Given the description of an element on the screen output the (x, y) to click on. 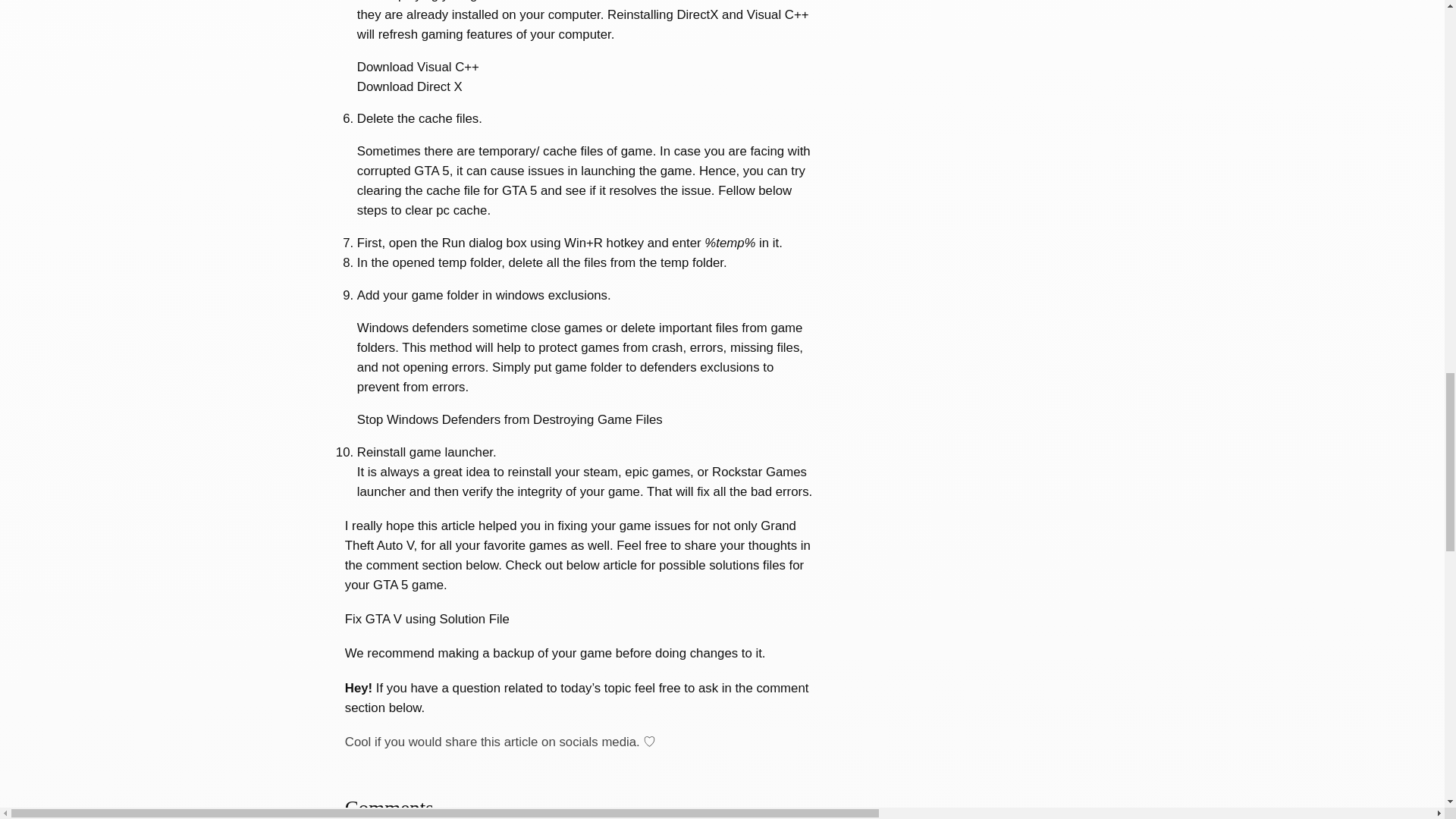
Download Direct X (409, 86)
Fix GTA V using Solution File (427, 618)
Stop Windows Defenders from Destroying Game Files (509, 419)
